Given the description of an element on the screen output the (x, y) to click on. 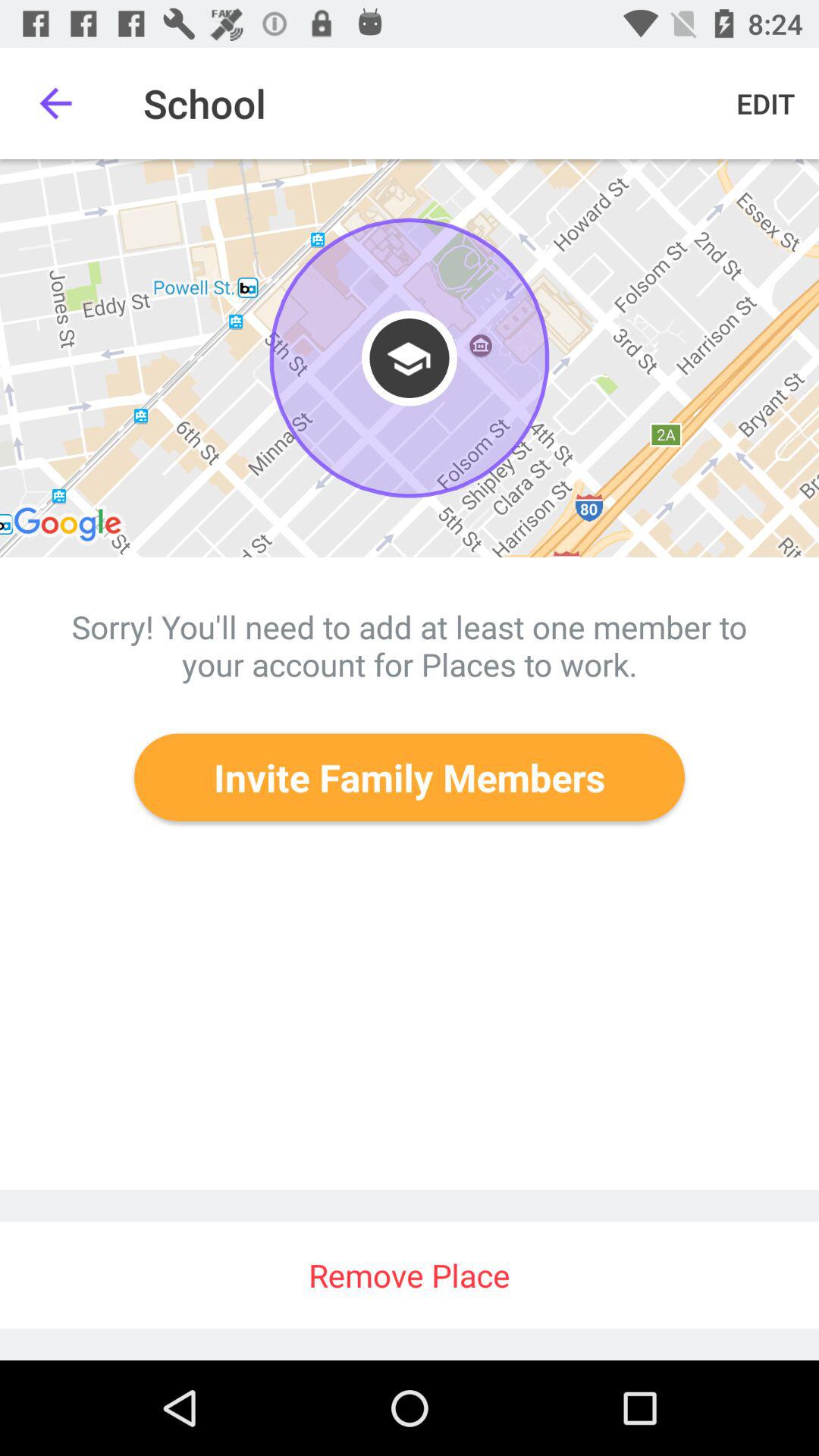
jump to remove place (409, 1274)
